Given the description of an element on the screen output the (x, y) to click on. 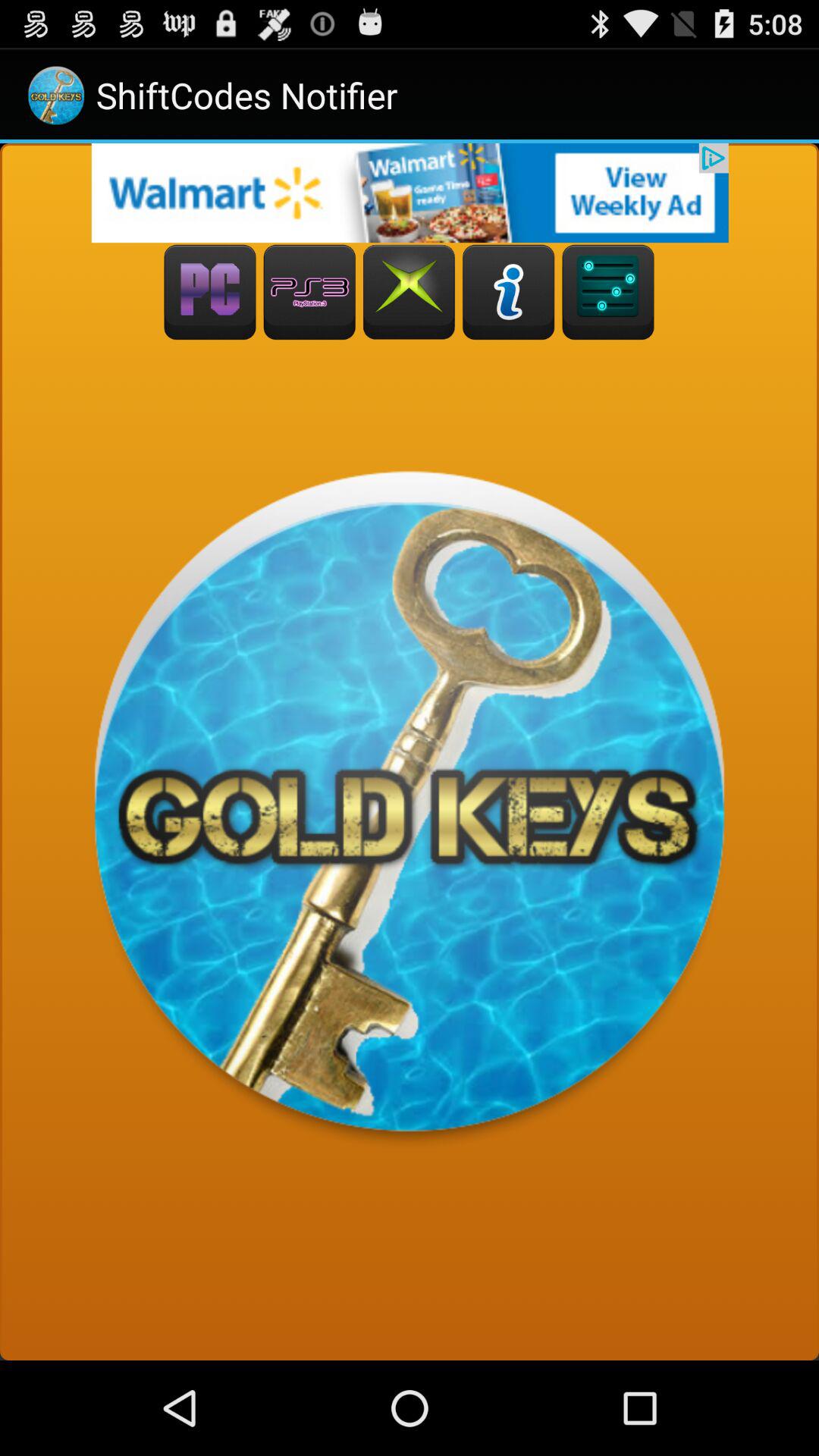
open pc games (209, 292)
